Given the description of an element on the screen output the (x, y) to click on. 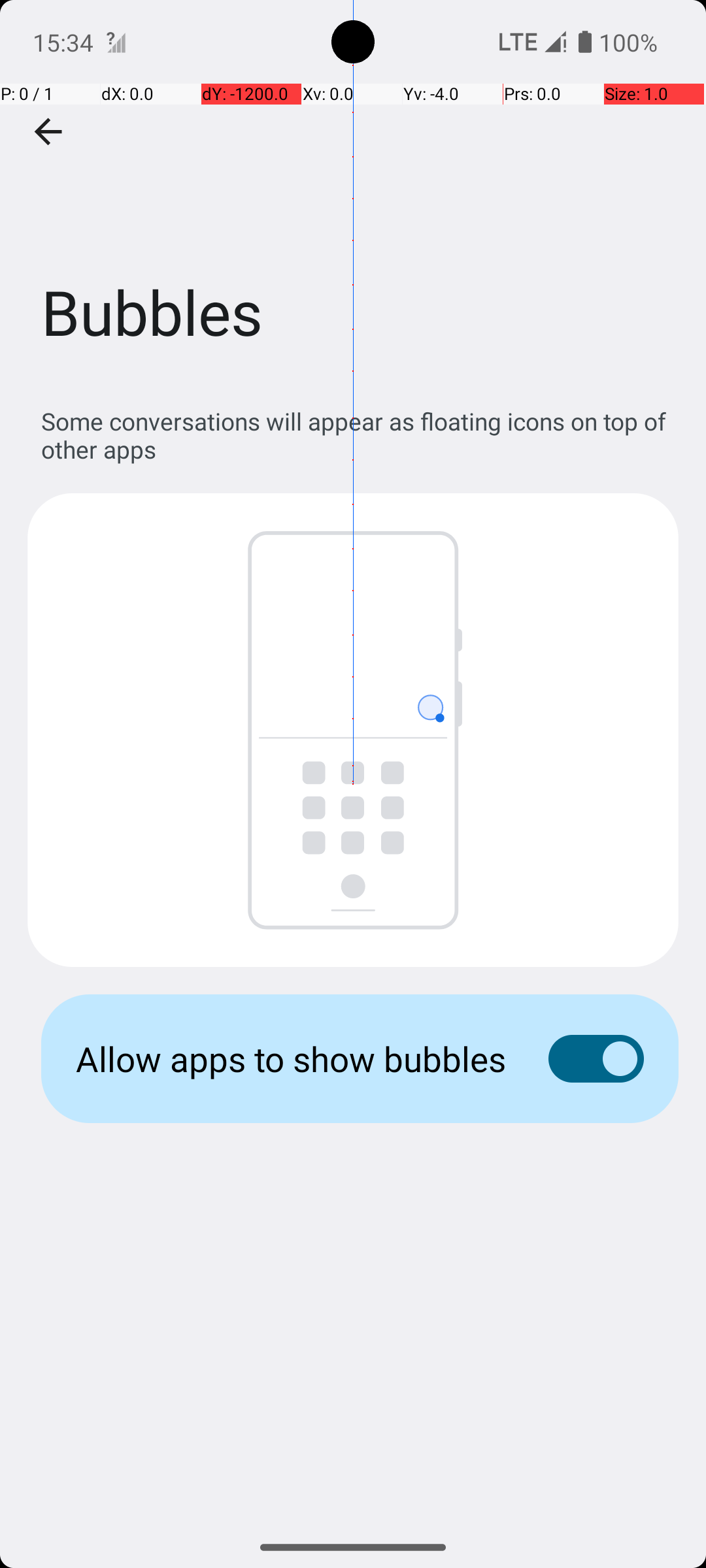
Some conversations will appear as floating icons on top of other apps Element type: android.widget.TextView (359, 434)
Allow apps to show bubbles Element type: android.widget.TextView (291, 1058)
